Given the description of an element on the screen output the (x, y) to click on. 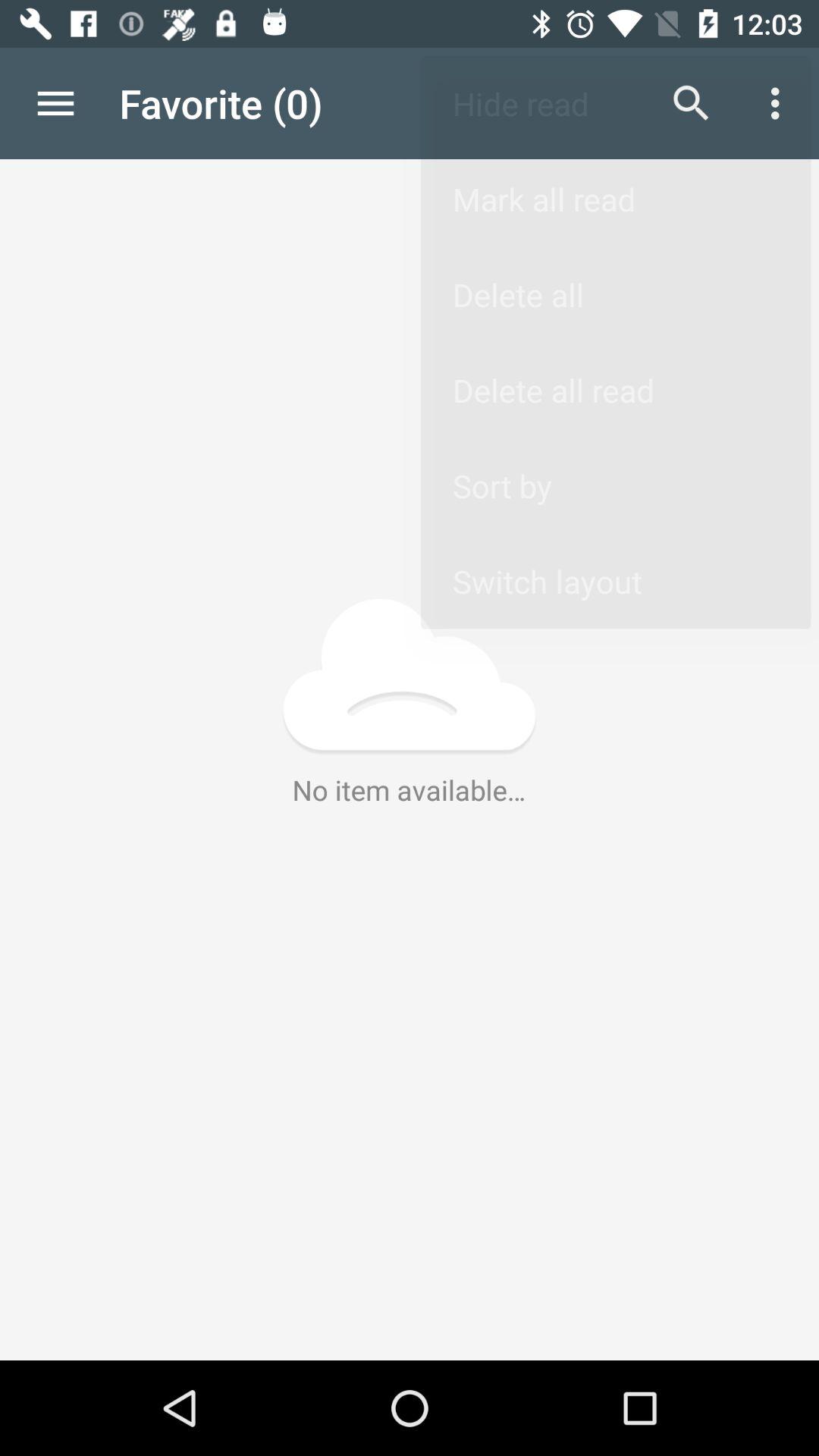
turn on the item to the left of favorite (0) app (55, 103)
